Given the description of an element on the screen output the (x, y) to click on. 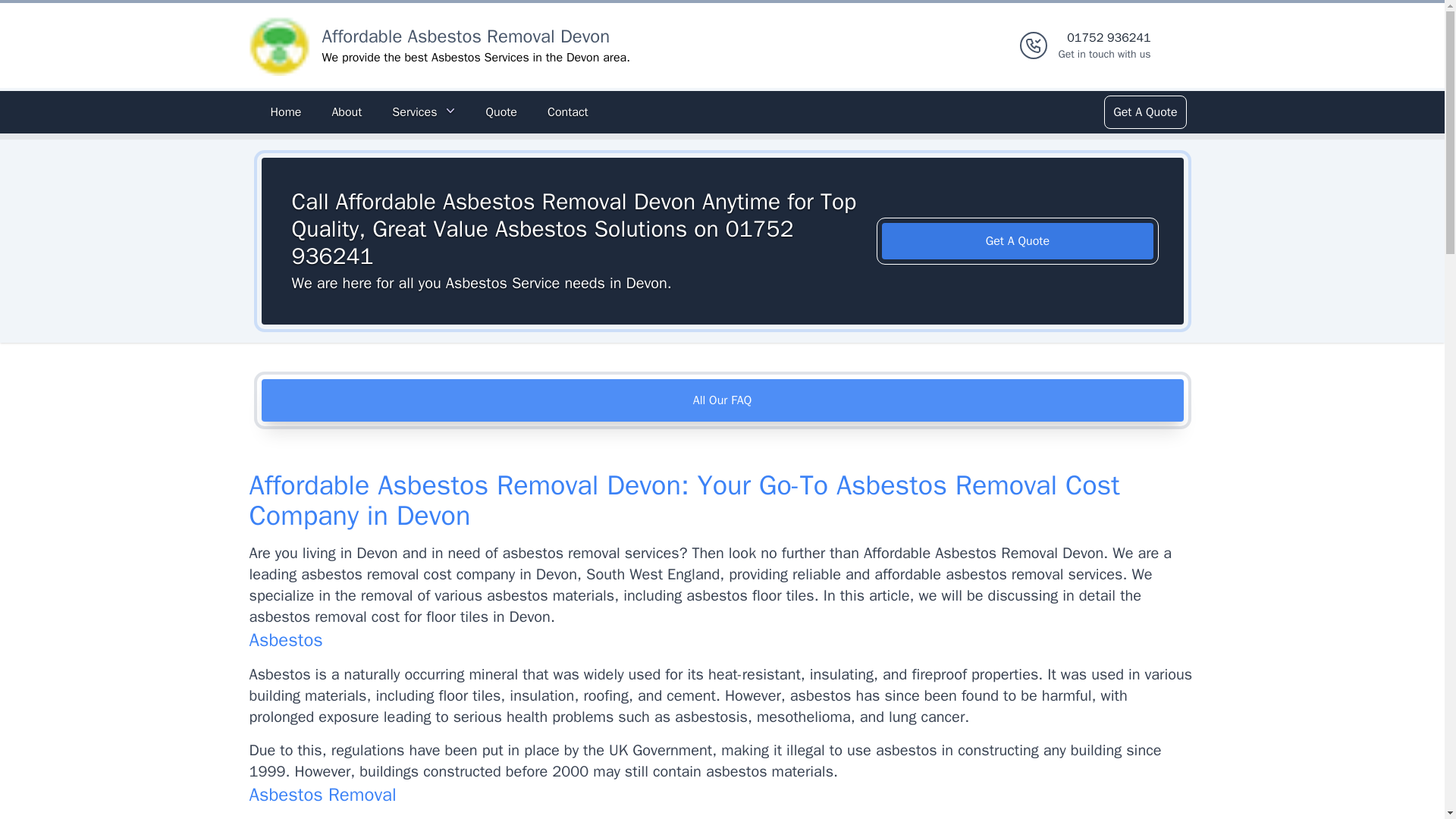
Quote (500, 112)
About (346, 112)
Contact (567, 112)
Logo (278, 45)
All Our FAQ (721, 400)
Get A Quote (1017, 240)
Services (423, 112)
Affordable Asbestos Removal Devon (465, 36)
Get A Quote (1144, 112)
